Given the description of an element on the screen output the (x, y) to click on. 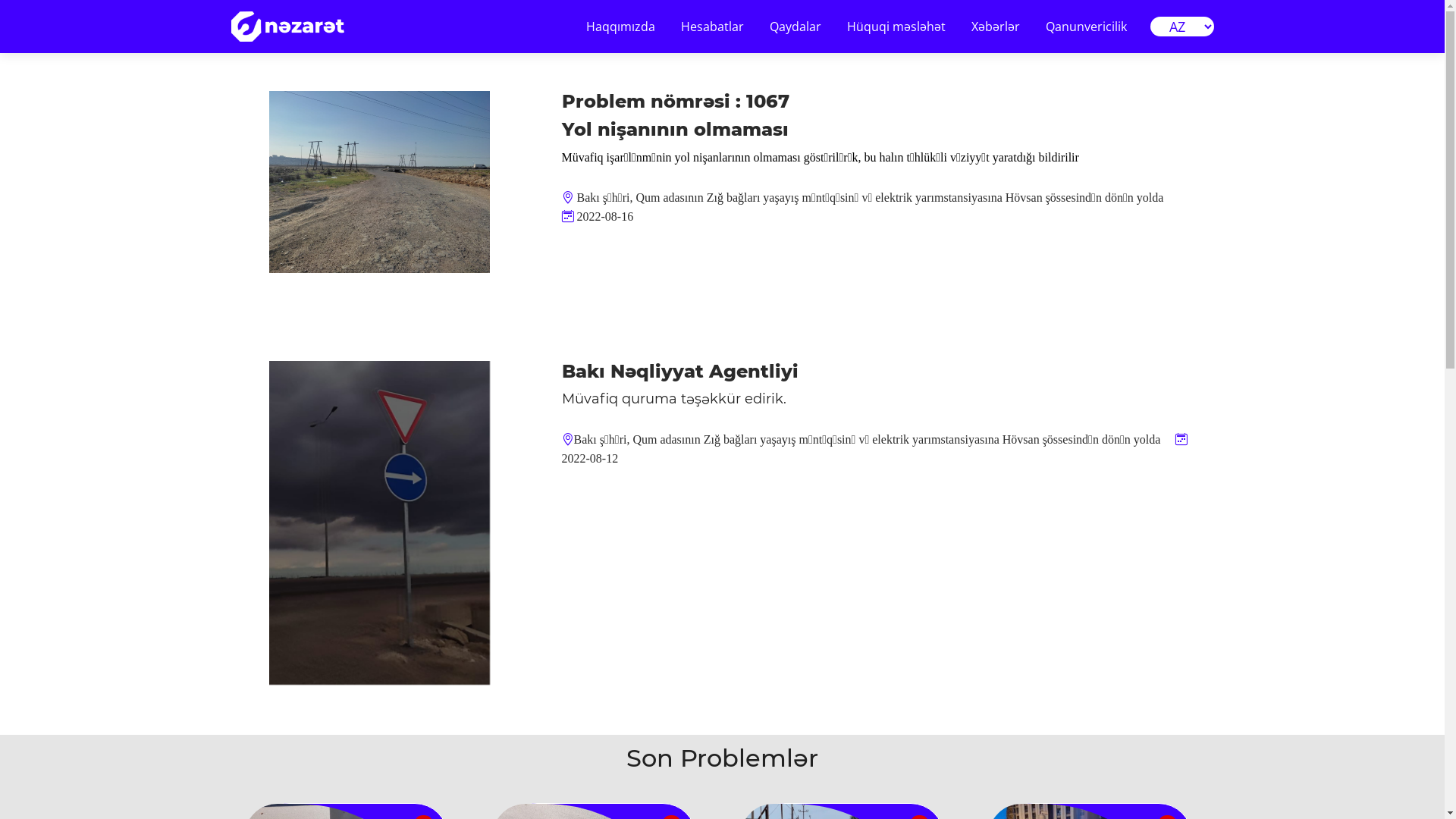
Hesabatlar Element type: text (711, 26)
Qaydalar Element type: text (795, 26)
Qanunvericilik Element type: text (1086, 26)
